Given the description of an element on the screen output the (x, y) to click on. 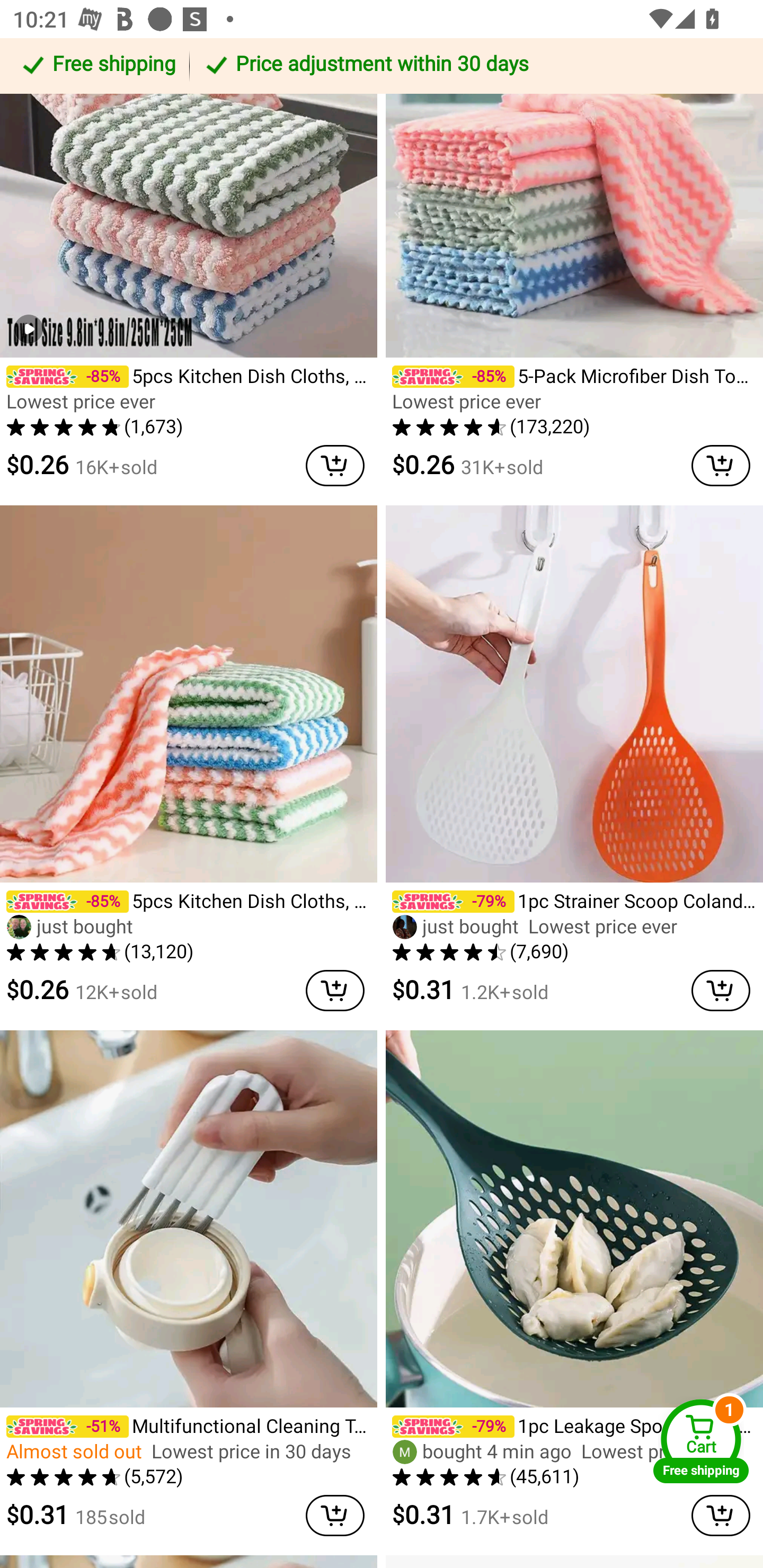
Free shipping (97, 65)
Price adjustment within 30 days (472, 65)
cart delete (334, 465)
cart delete (720, 465)
cart delete (334, 990)
cart delete (720, 990)
Cart Free shipping Cart (701, 1440)
cart delete (334, 1515)
cart delete (720, 1515)
